Given the description of an element on the screen output the (x, y) to click on. 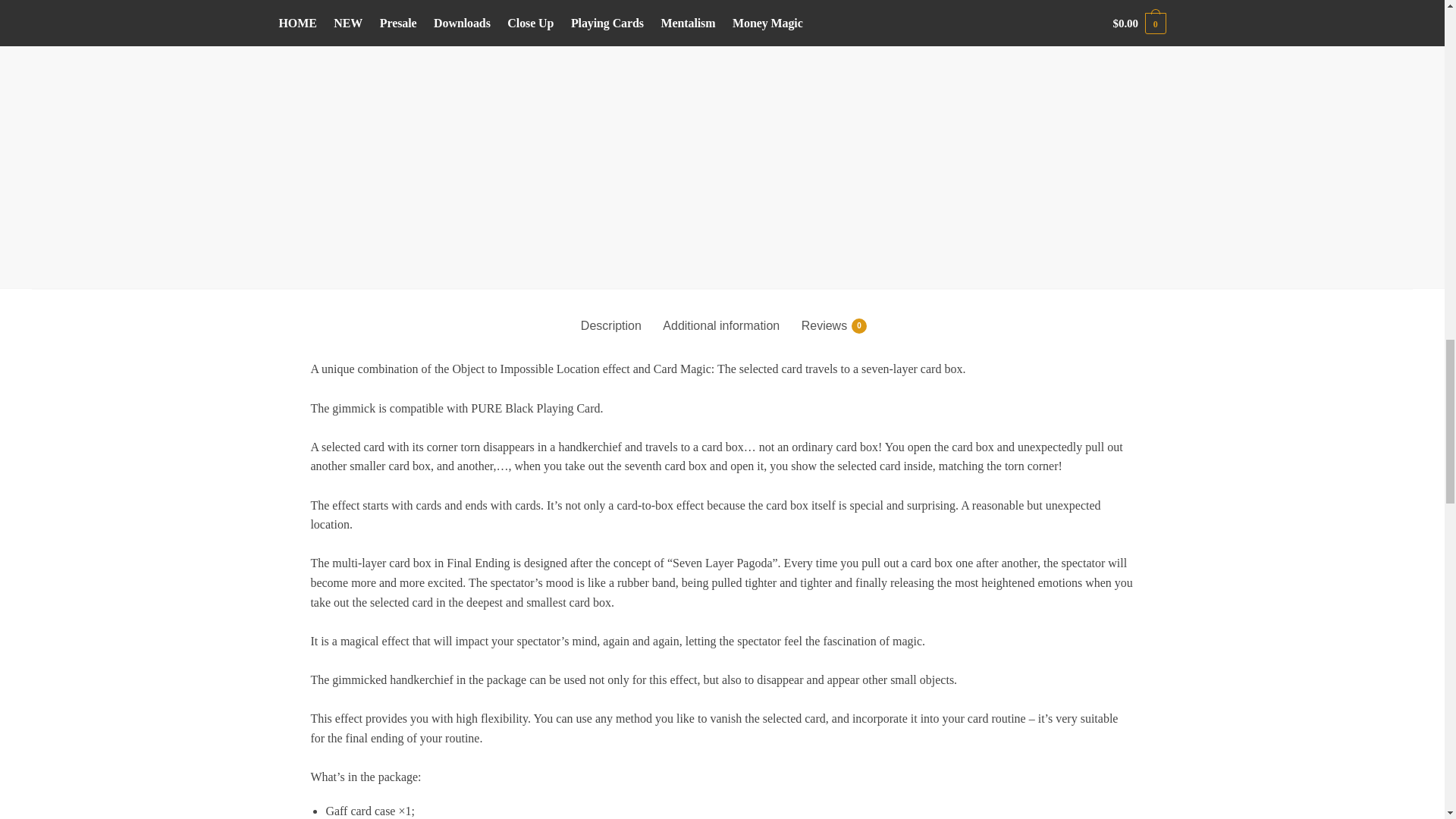
Description (611, 313)
Additional information (720, 313)
